Given the description of an element on the screen output the (x, y) to click on. 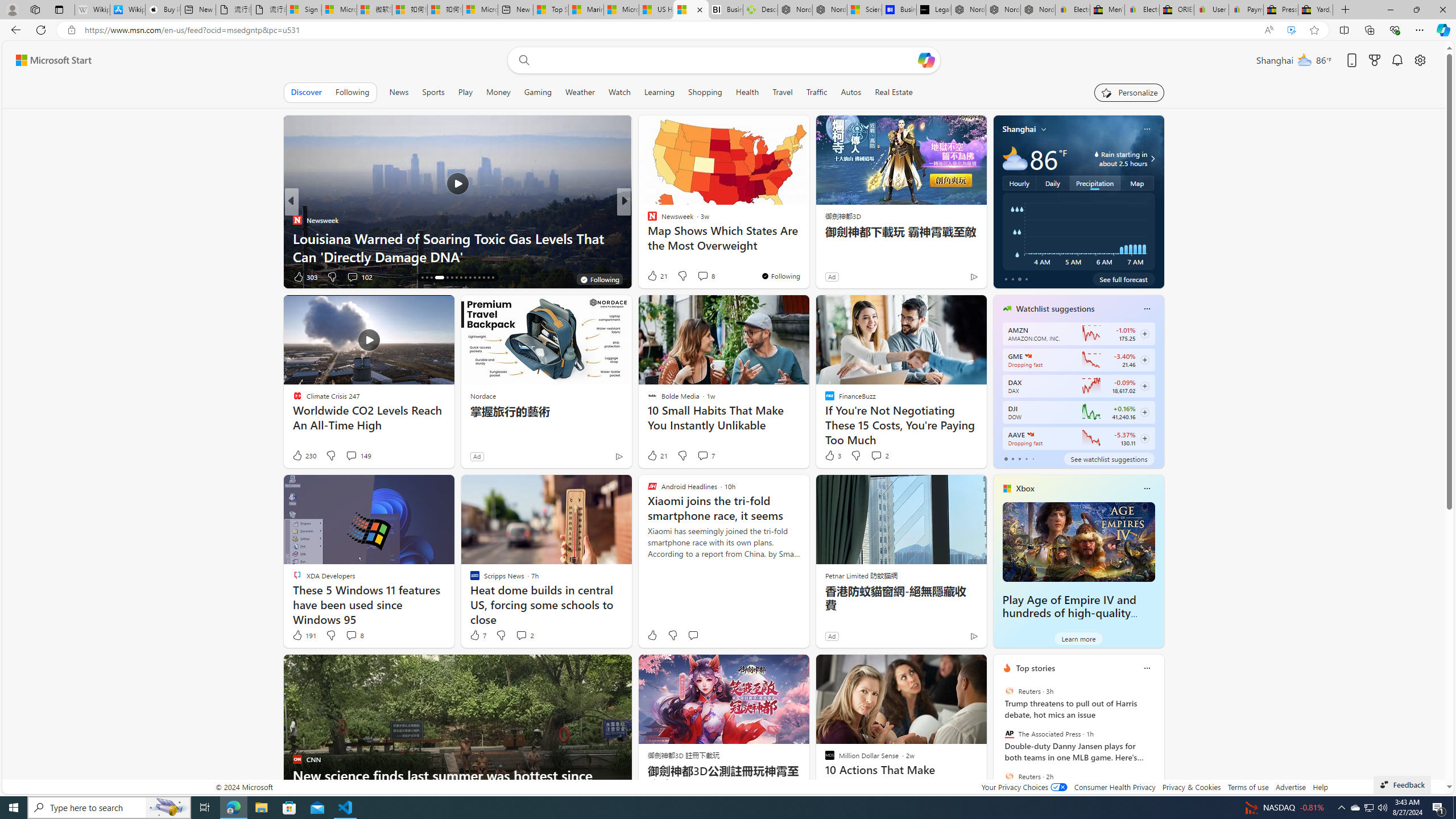
tab-2 (1019, 458)
4 AM 5 AM 6 AM 7 AM (1077, 231)
How To Fix Bad System Config Info Error In Windows (807, 256)
water-drop-icon (1096, 154)
